Given the description of an element on the screen output the (x, y) to click on. 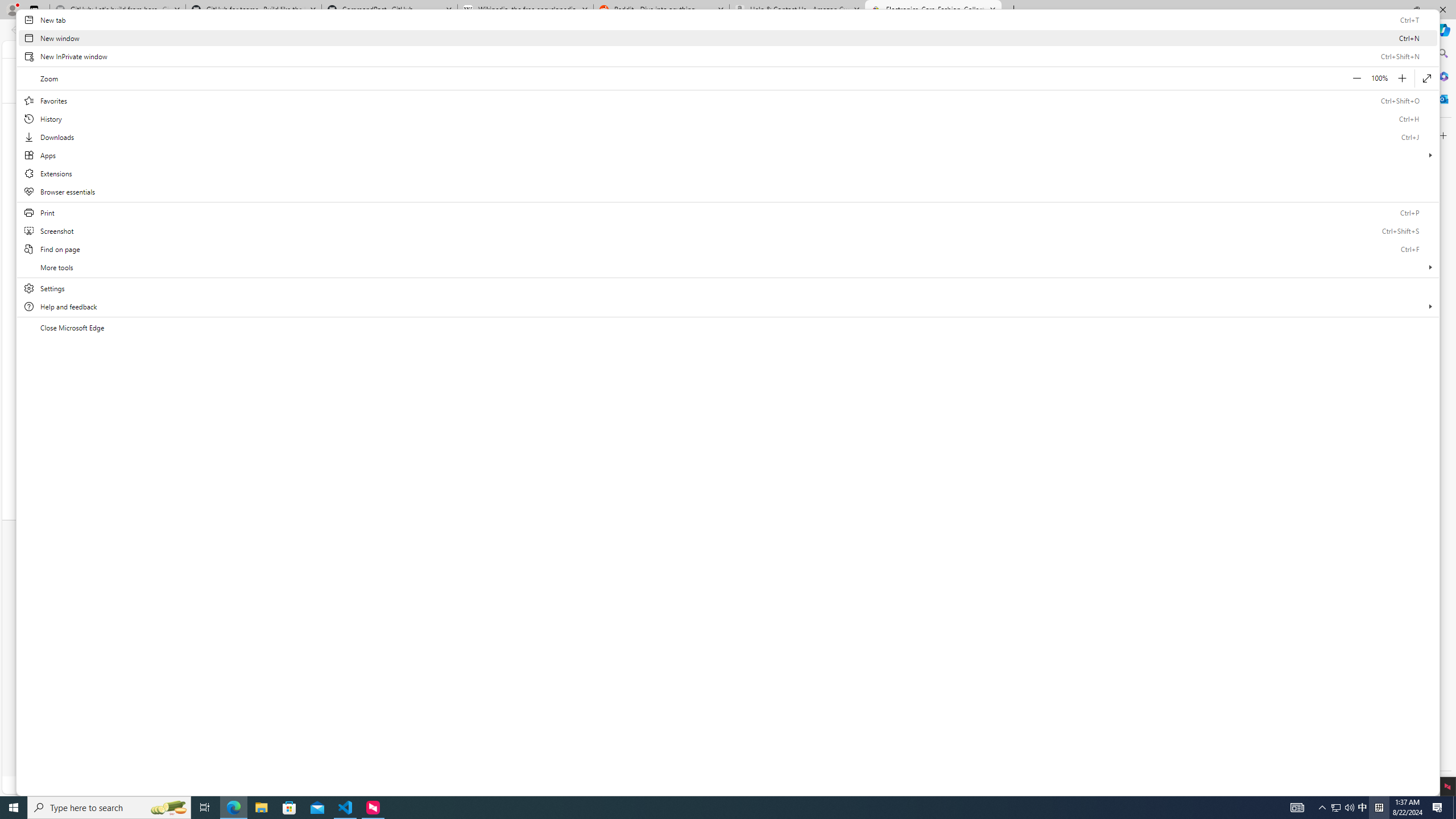
Privacy (610, 749)
Refurbished (715, 433)
Close Outlook pane (1442, 98)
Saved (451, 112)
Zoom in (Ctrl+Plus key) (1401, 78)
Print (727, 212)
New InPrivate window (727, 56)
About eBay (817, 559)
Registration (379, 573)
Facebook (703, 587)
App bar (728, 29)
Payments Terms of Use (724, 749)
Stores (412, 614)
